Given the description of an element on the screen output the (x, y) to click on. 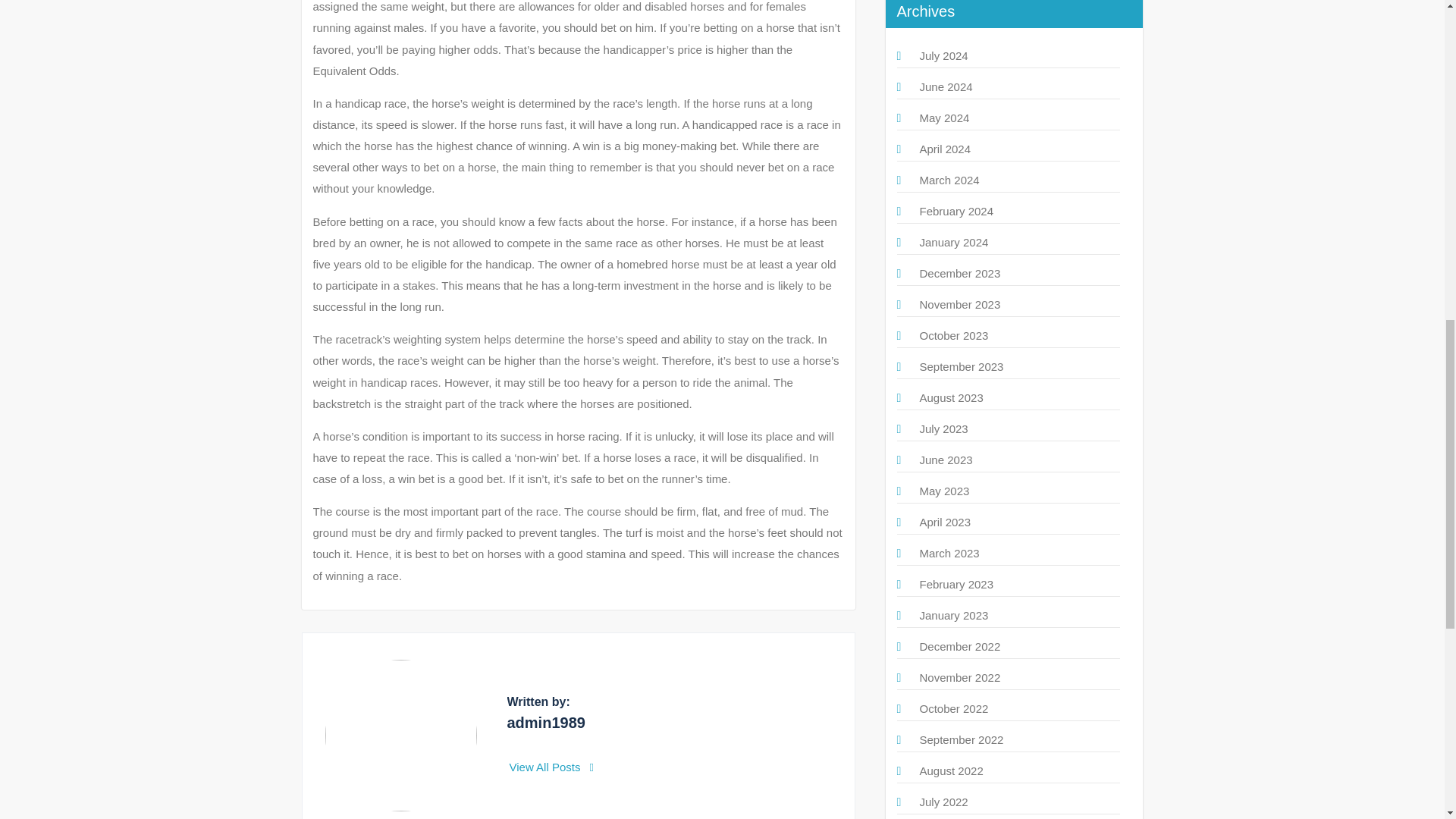
February 2023 (955, 584)
August 2023 (950, 397)
April 2023 (944, 521)
March 2023 (948, 553)
April 2024 (944, 148)
May 2024 (943, 117)
View All Posts (551, 766)
September 2023 (960, 366)
July 2023 (943, 428)
December 2023 (959, 273)
November 2022 (959, 676)
October 2023 (953, 335)
March 2024 (948, 179)
January 2024 (953, 241)
October 2022 (953, 707)
